Given the description of an element on the screen output the (x, y) to click on. 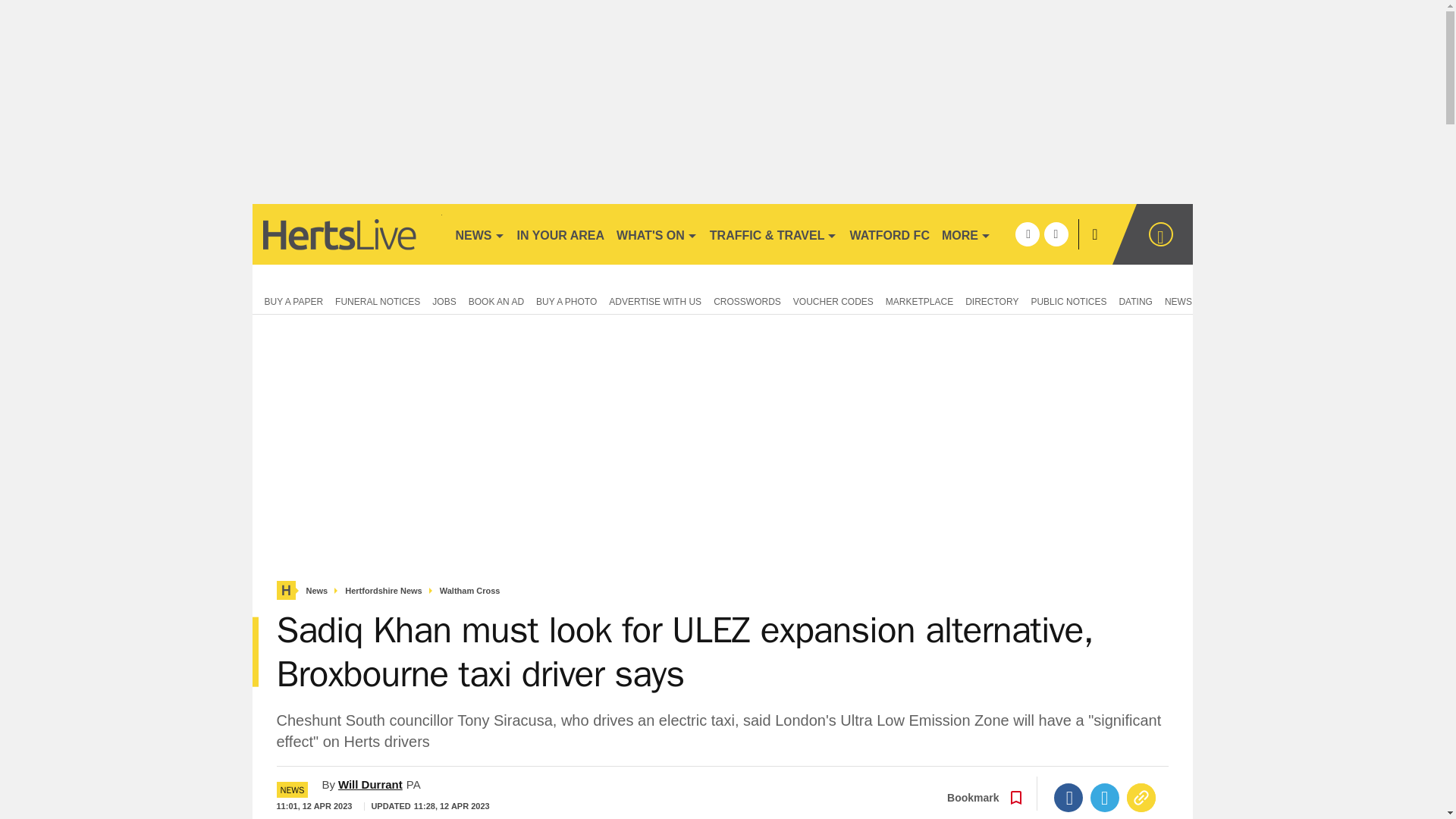
WHAT'S ON (656, 233)
hertfordshiremercury (346, 233)
NEWS (479, 233)
WATFORD FC (888, 233)
twitter (1055, 233)
IN YOUR AREA (561, 233)
Facebook (1068, 797)
MORE (966, 233)
facebook (1026, 233)
Twitter (1104, 797)
